Given the description of an element on the screen output the (x, y) to click on. 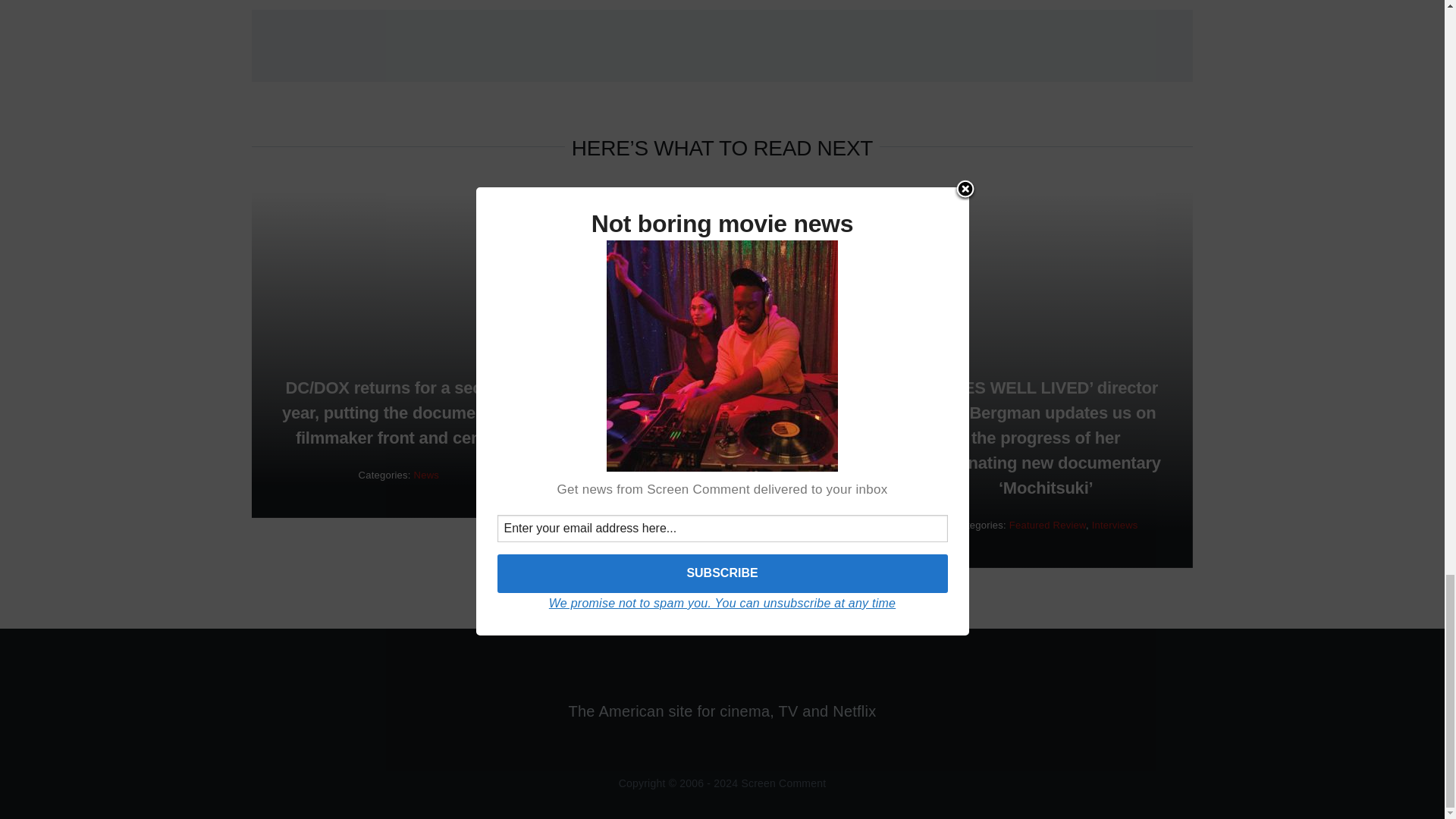
In Theaters Now (779, 471)
Interviews (1115, 524)
Featured Review (1047, 524)
Movies (621, 482)
News (426, 474)
Featured Review (697, 471)
